Given the description of an element on the screen output the (x, y) to click on. 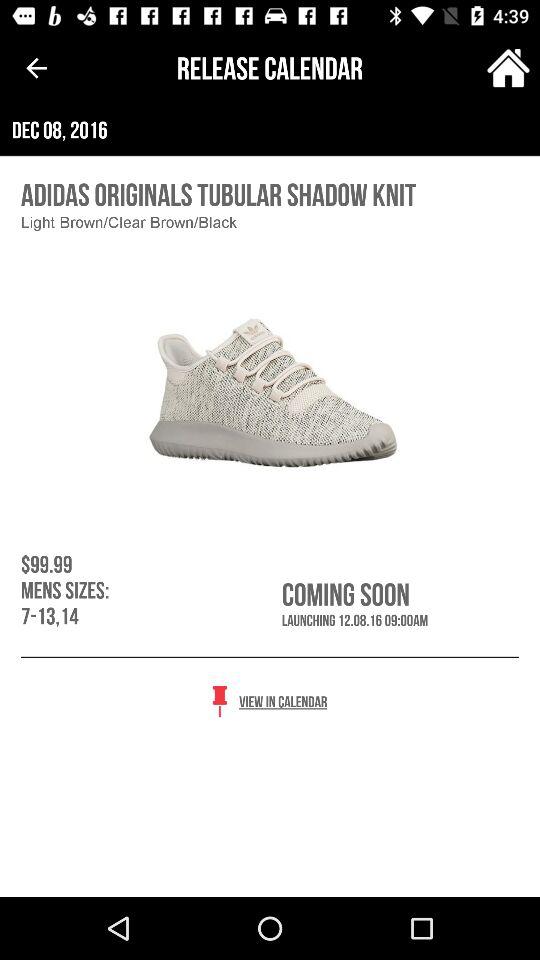
open the icon above the dec 08, 2016 (508, 67)
